Given the description of an element on the screen output the (x, y) to click on. 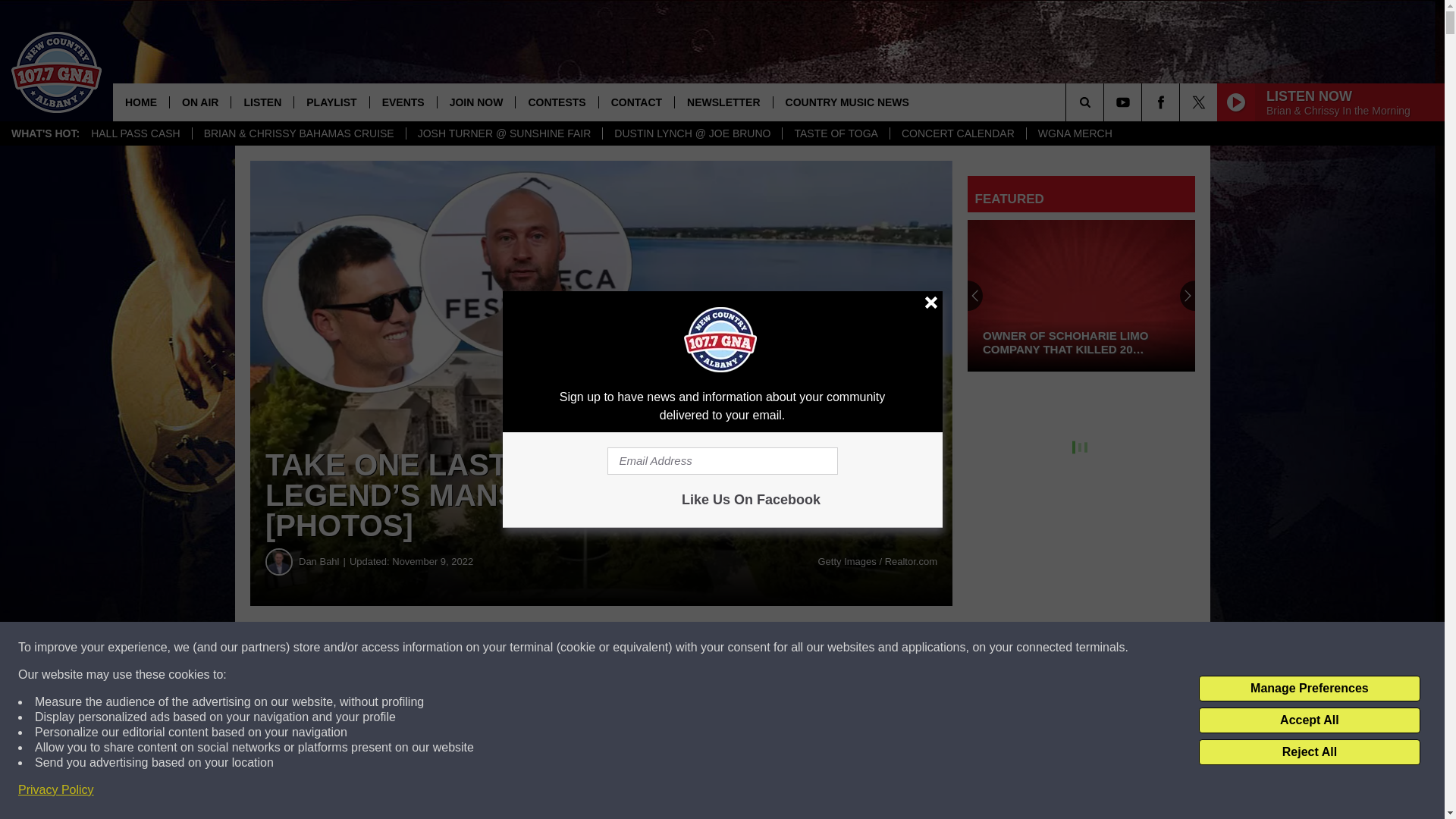
HOME (140, 102)
Accept All (1309, 720)
SEARCH (1106, 102)
LISTEN (262, 102)
SEARCH (1106, 102)
ON AIR (199, 102)
Share on Facebook (460, 647)
CONCERT CALENDAR (957, 133)
TASTE OF TOGA (834, 133)
Share on Twitter (741, 647)
Manage Preferences (1309, 688)
Reject All (1309, 751)
WGNA MERCH (1075, 133)
Privacy Policy (55, 789)
Email Address (722, 461)
